Given the description of an element on the screen output the (x, y) to click on. 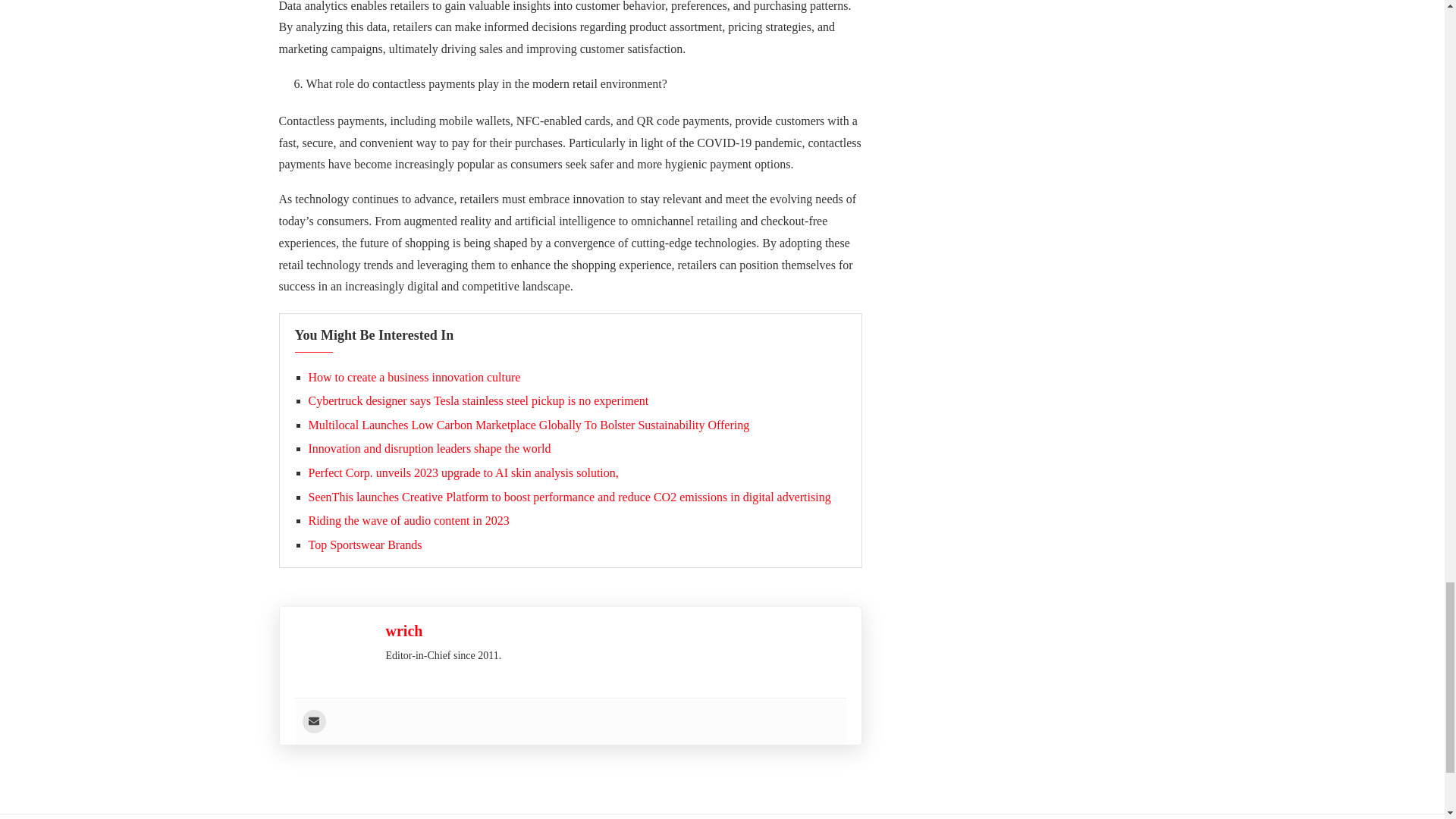
How to create a business innovation culture (413, 377)
Top Sportswear Brands (364, 544)
User email (312, 721)
Innovation and disruption leaders shape the world (428, 448)
Riding the wave of audio content in 2023 (407, 520)
wrich (403, 630)
